Given the description of an element on the screen output the (x, y) to click on. 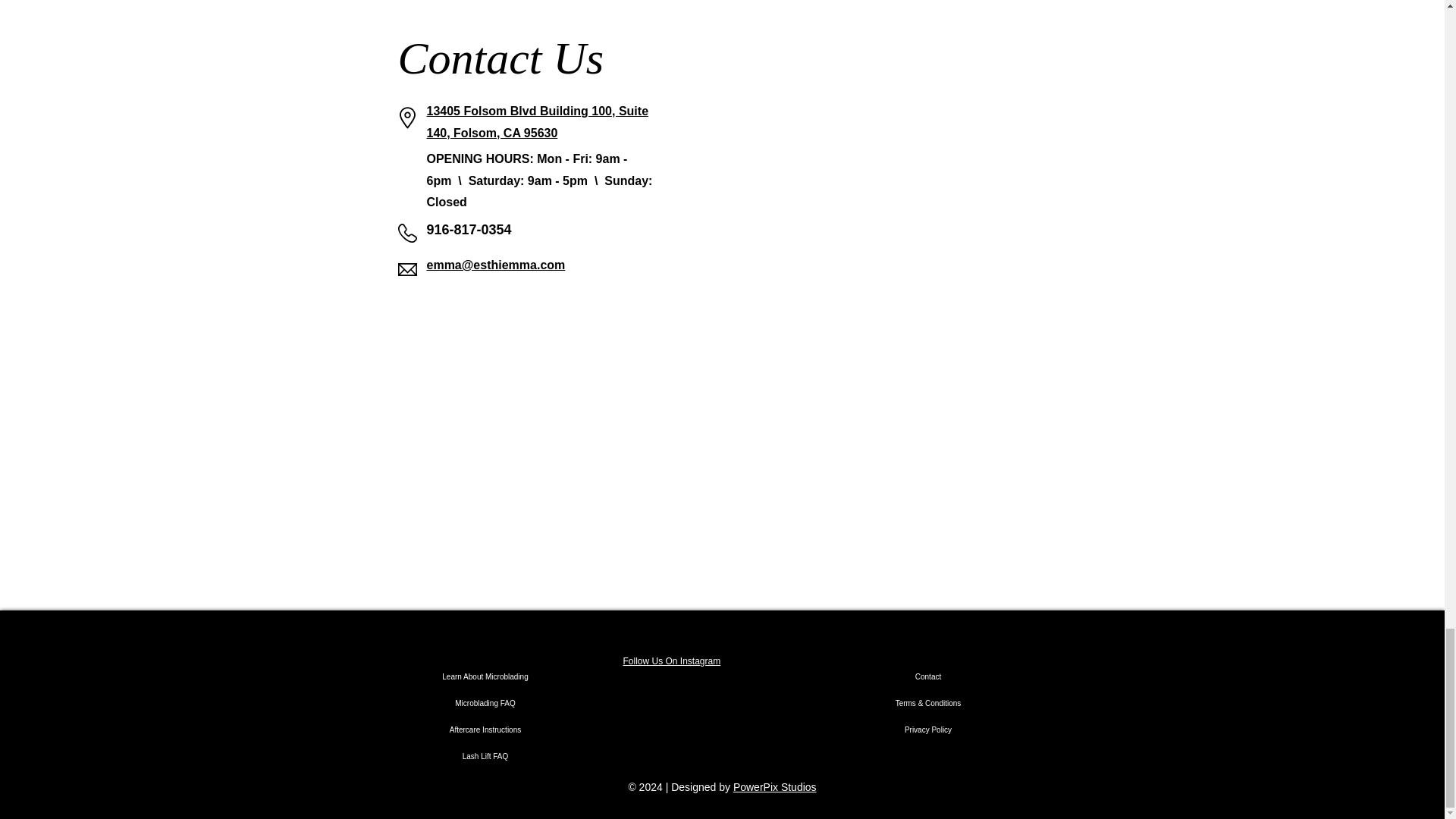
13405 Folsom Blvd Building 100, Suite 140, Folsom, CA 95630 (536, 121)
Follow Us On Instagram (671, 661)
Aftercare Instructions (485, 729)
Lash Lift FAQ (485, 755)
PowerPix Studios (774, 787)
Learn About Microblading (485, 676)
Microblading FAQ (485, 703)
Contact (928, 676)
Privacy Policy (928, 729)
